Given the description of an element on the screen output the (x, y) to click on. 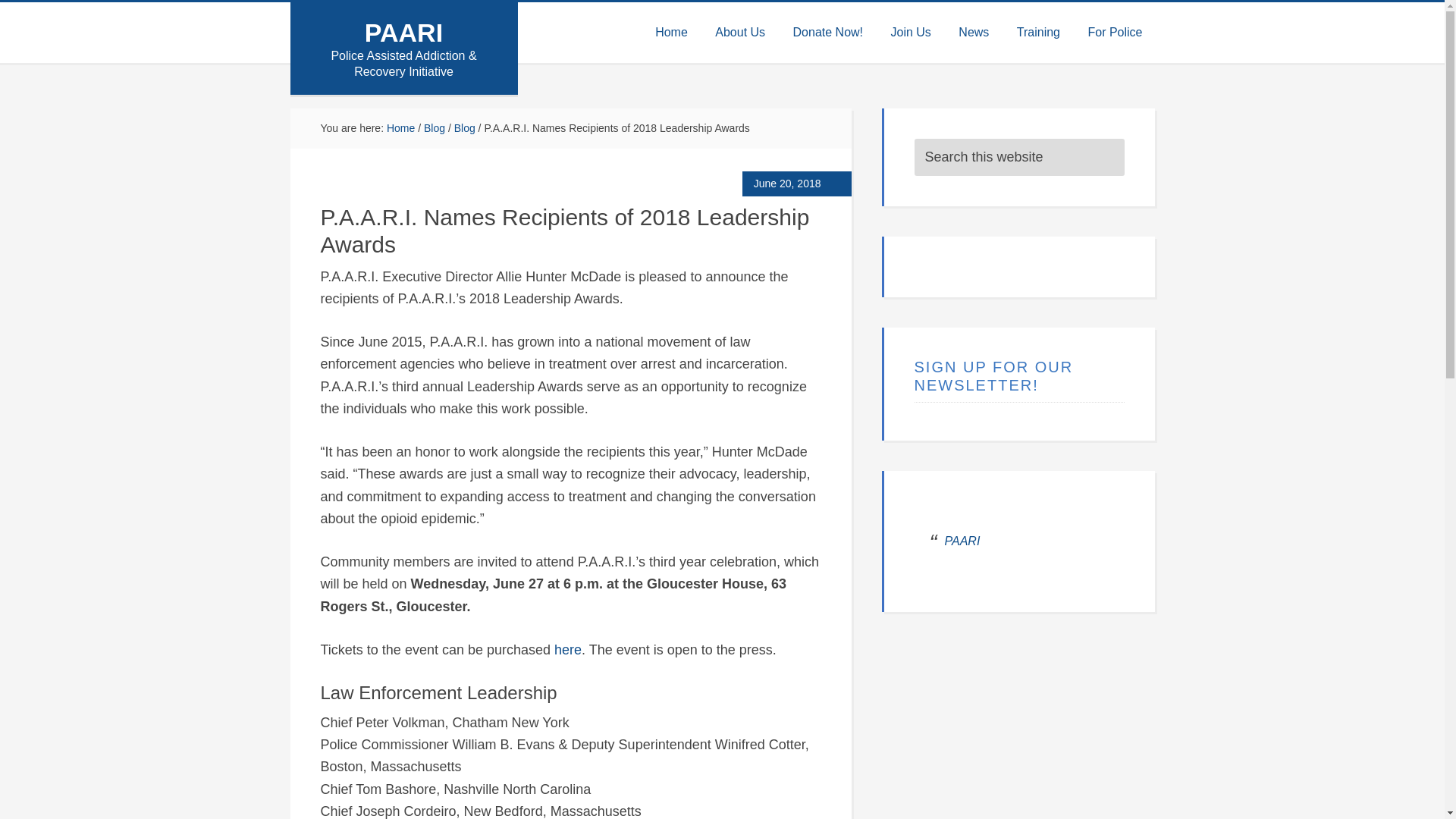
Join Us (911, 32)
News (973, 32)
Training (1037, 32)
Home (671, 32)
Donate Now! (828, 32)
For Police (1114, 32)
About Us (740, 32)
PAARI (403, 32)
